Given the description of an element on the screen output the (x, y) to click on. 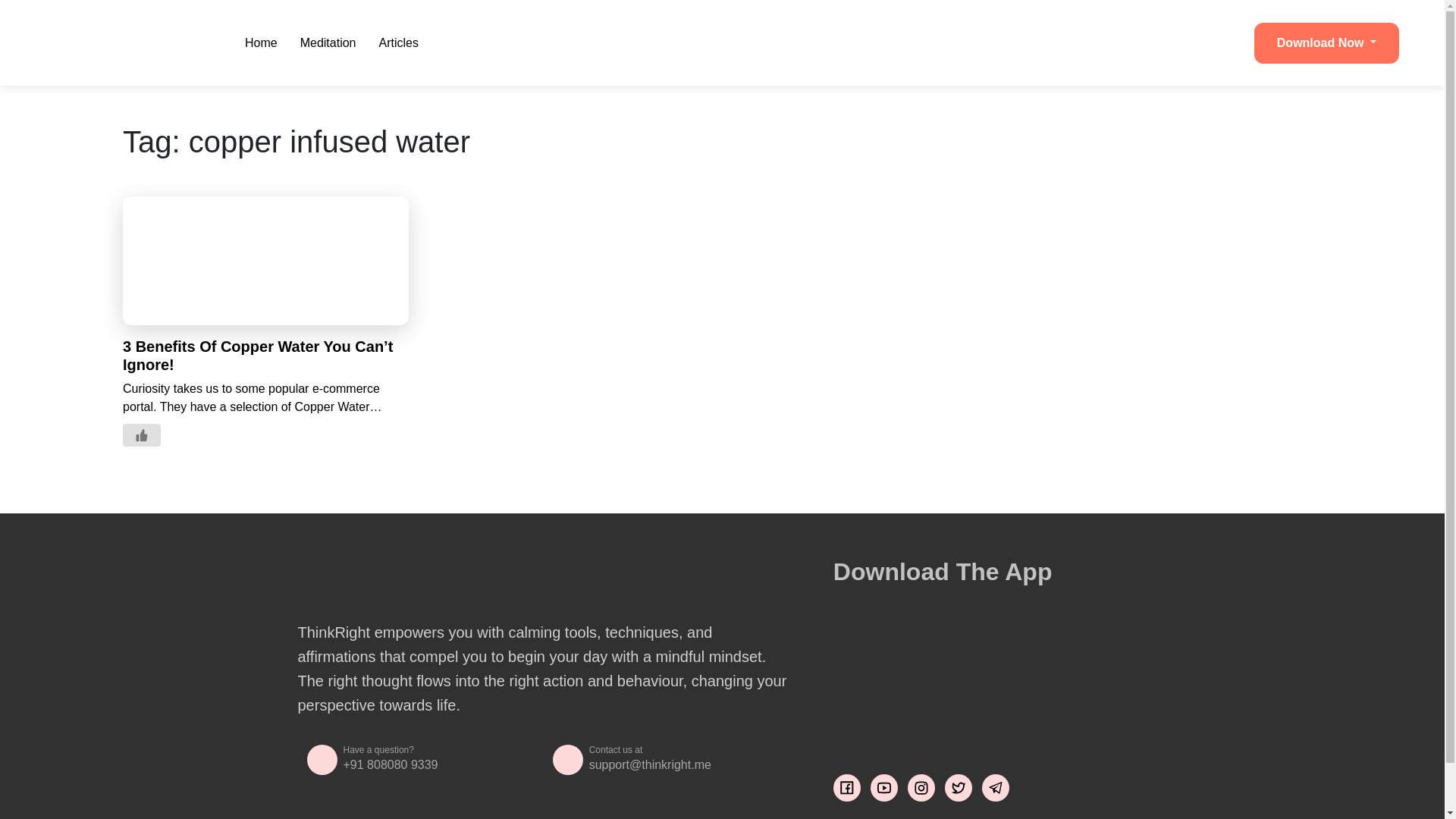
Meditation (328, 42)
image 76 (946, 644)
Home (260, 42)
Logo (120, 42)
play-store-foo (959, 716)
Download Now (1326, 42)
Articles (398, 42)
